Given the description of an element on the screen output the (x, y) to click on. 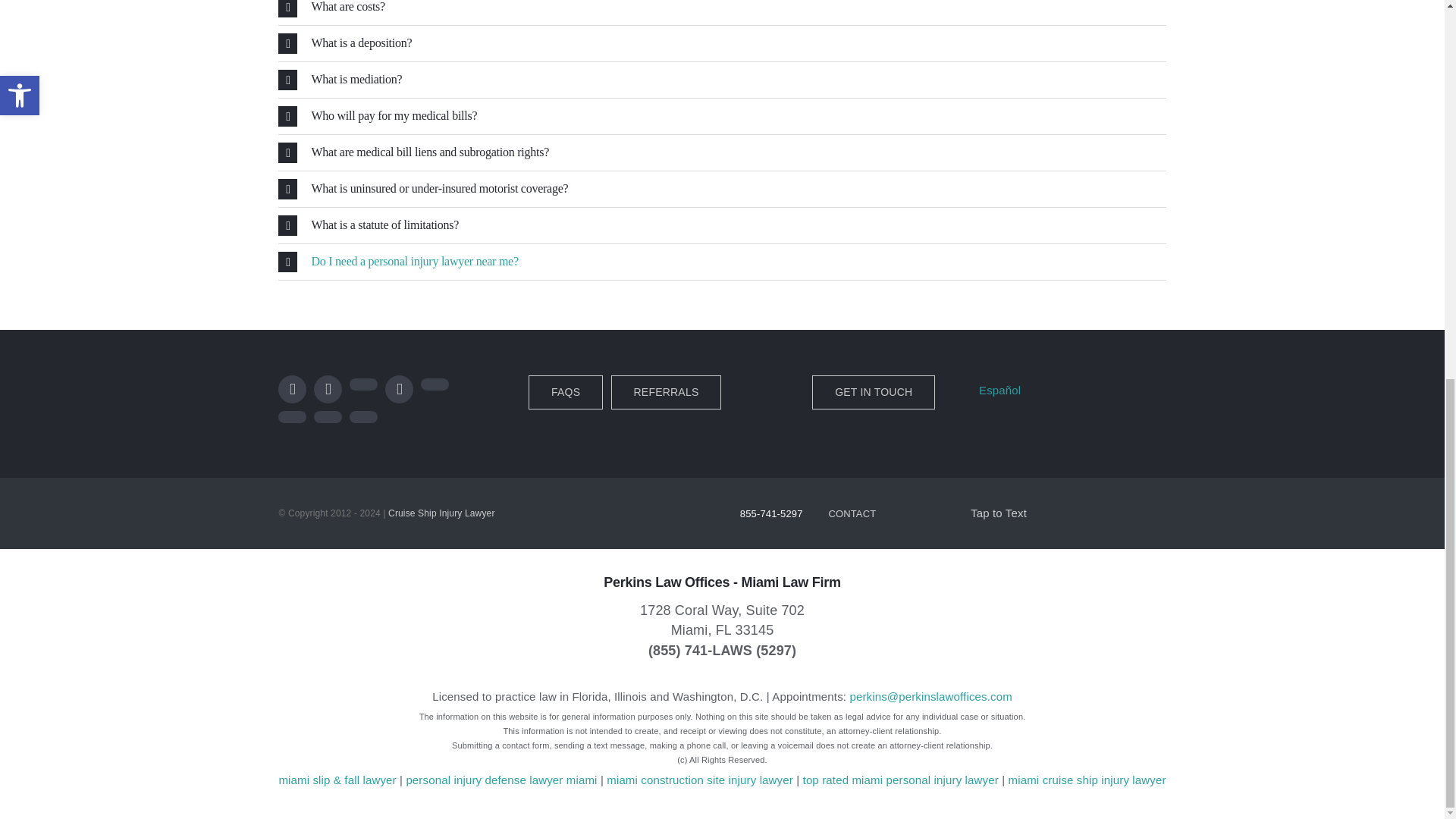
Phone (363, 417)
Twitter (328, 389)
Instagram (363, 384)
Yelp (291, 417)
Facebook (291, 389)
LinkedIn (434, 384)
Email (328, 417)
YouTube (399, 389)
